Given the description of an element on the screen output the (x, y) to click on. 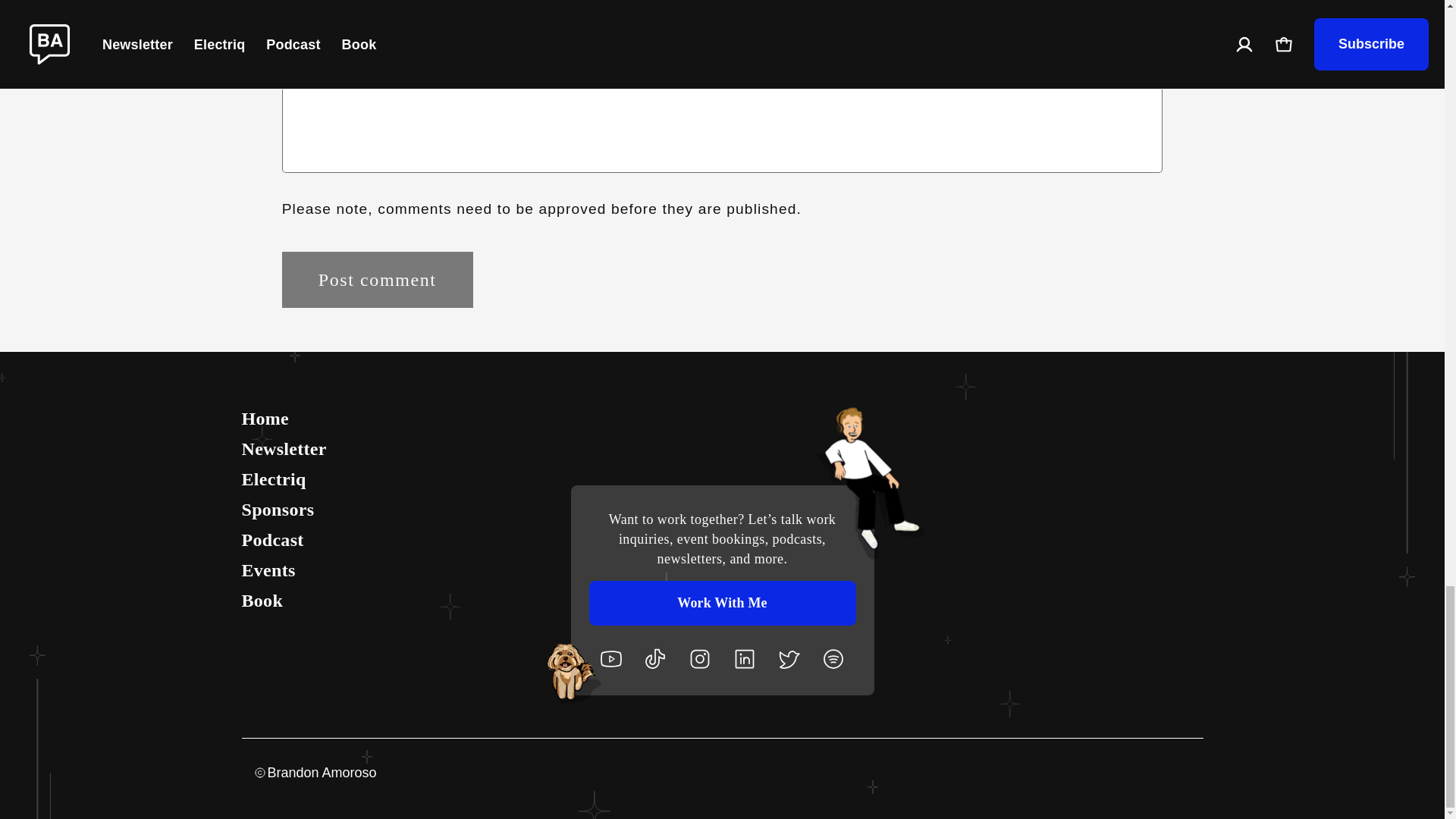
Newsletter (401, 448)
Events (401, 569)
Events (401, 569)
Work With Me (722, 602)
Book (401, 600)
Sponsors (401, 509)
Home (401, 418)
Work With Me (722, 602)
Sponsors (401, 509)
Electriq (401, 478)
Podcast (401, 539)
Post comment (377, 279)
Post comment (377, 279)
Podcast (401, 539)
Book (401, 600)
